Given the description of an element on the screen output the (x, y) to click on. 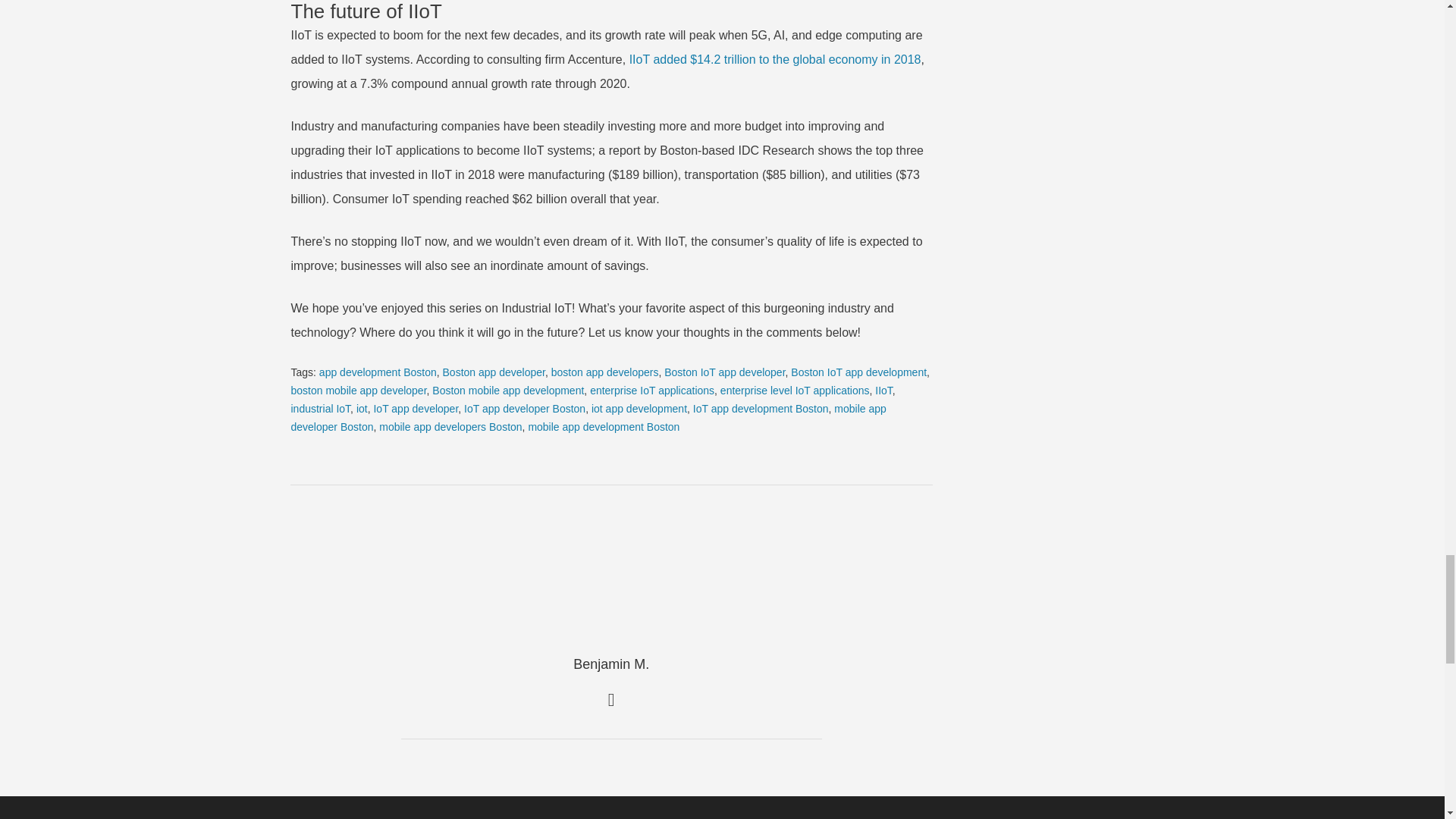
enterprise IoT applications (651, 390)
Boston app developer (493, 372)
Boston IoT app developer (723, 372)
Boston mobile app development (507, 390)
Posts by Benjamin M. (611, 663)
app development Boston (377, 372)
boston mobile app developer (358, 390)
Boston IoT app development (858, 372)
boston app developers (605, 372)
